Given the description of an element on the screen output the (x, y) to click on. 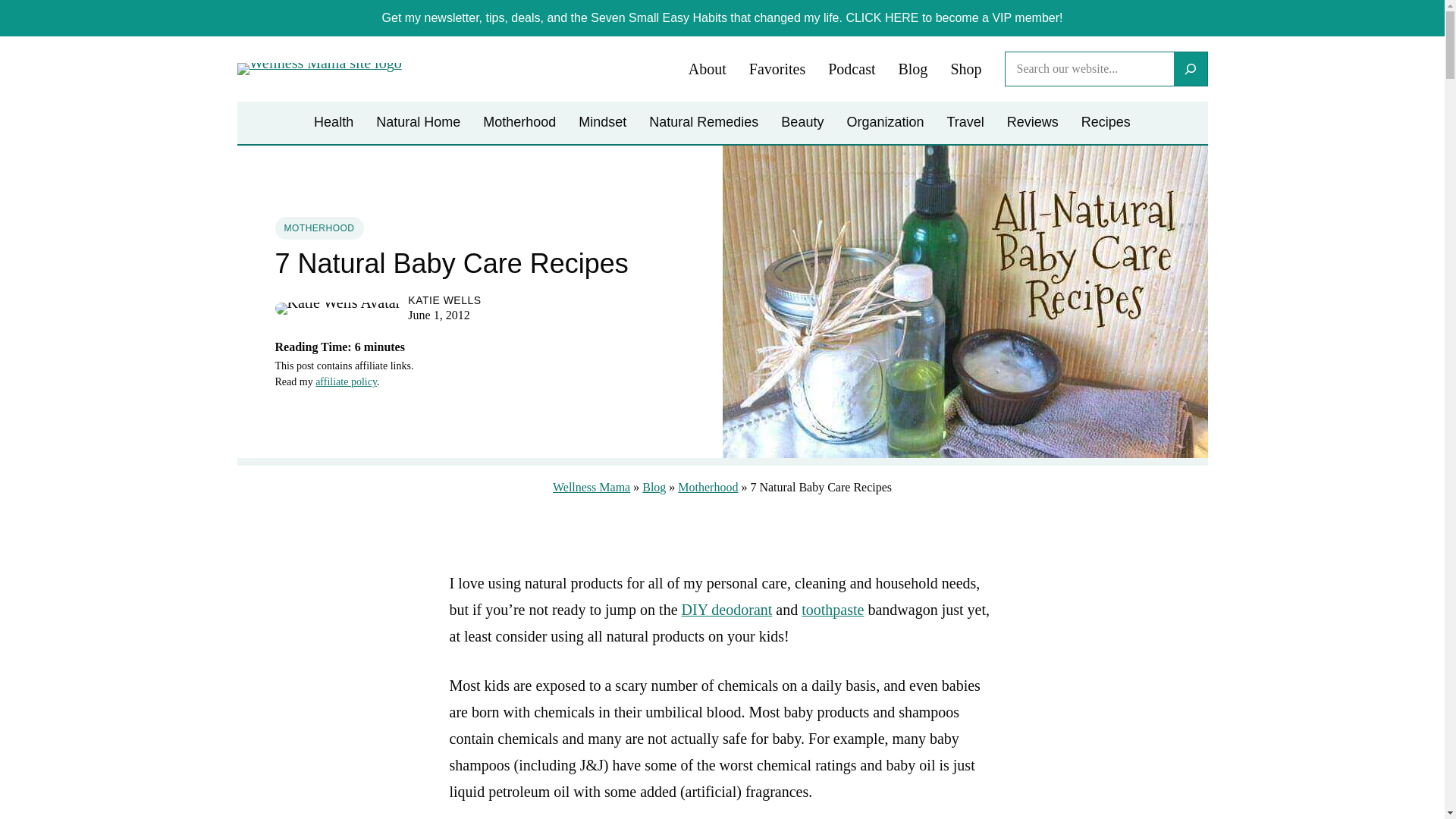
Organization (884, 122)
Blog (653, 486)
Beauty (802, 122)
Recipes (1106, 122)
Shop (965, 69)
affiliate policy (346, 381)
Motherhood (519, 122)
Motherhood (708, 486)
Mindset (602, 122)
Favorites (777, 69)
Travel (965, 122)
Podcast (851, 69)
About (707, 69)
Natural Remedies (703, 122)
toothpaste (832, 608)
